Given the description of an element on the screen output the (x, y) to click on. 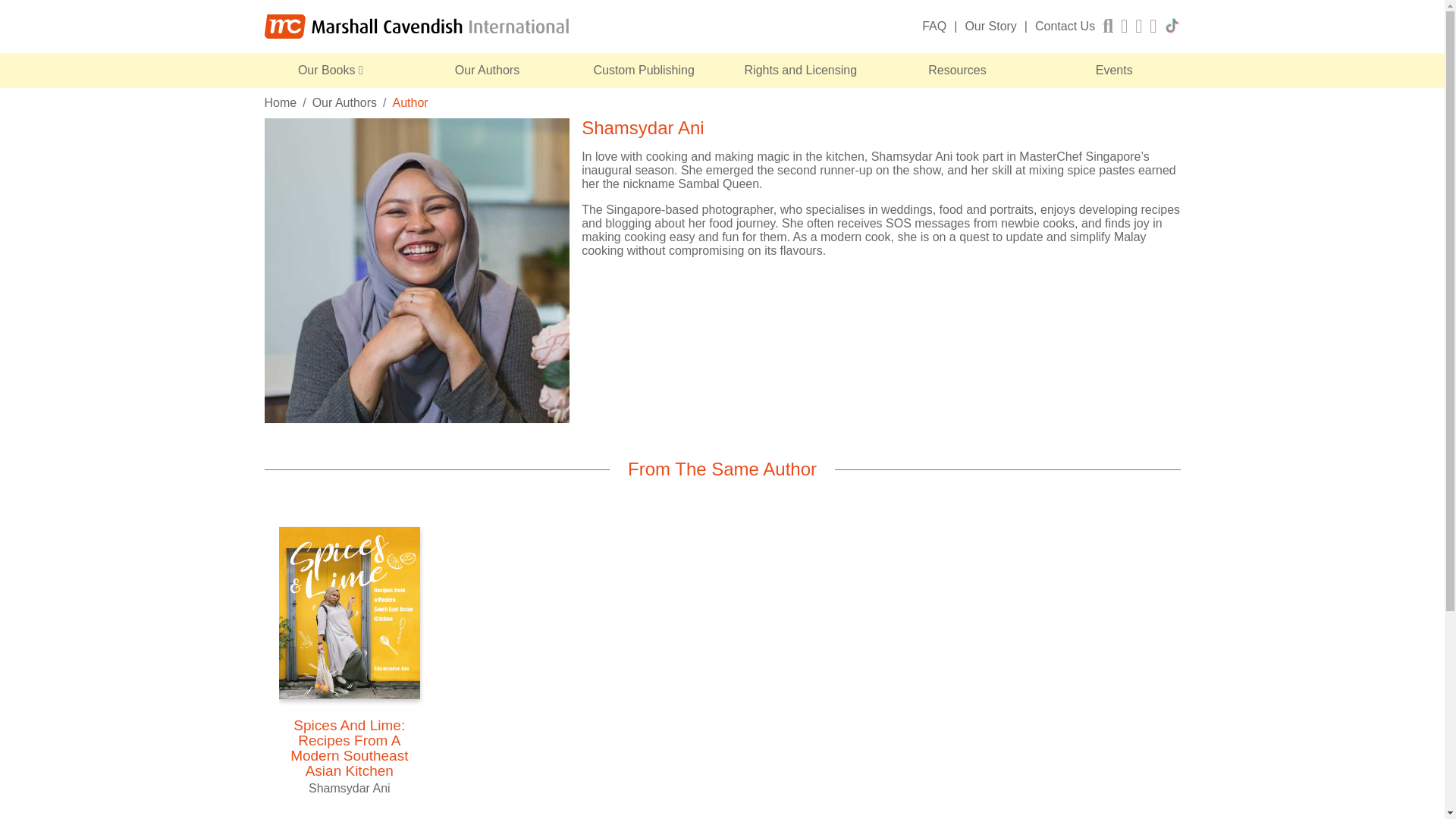
Contact Us (1064, 25)
FAQ (933, 25)
Shamsydar Ani (416, 270)
Our Books (330, 70)
Our Authors (487, 70)
Rights and Licensing (800, 70)
Events (1113, 70)
Custom Publishing (644, 70)
Our Story (989, 25)
Resources (957, 70)
